Given the description of an element on the screen output the (x, y) to click on. 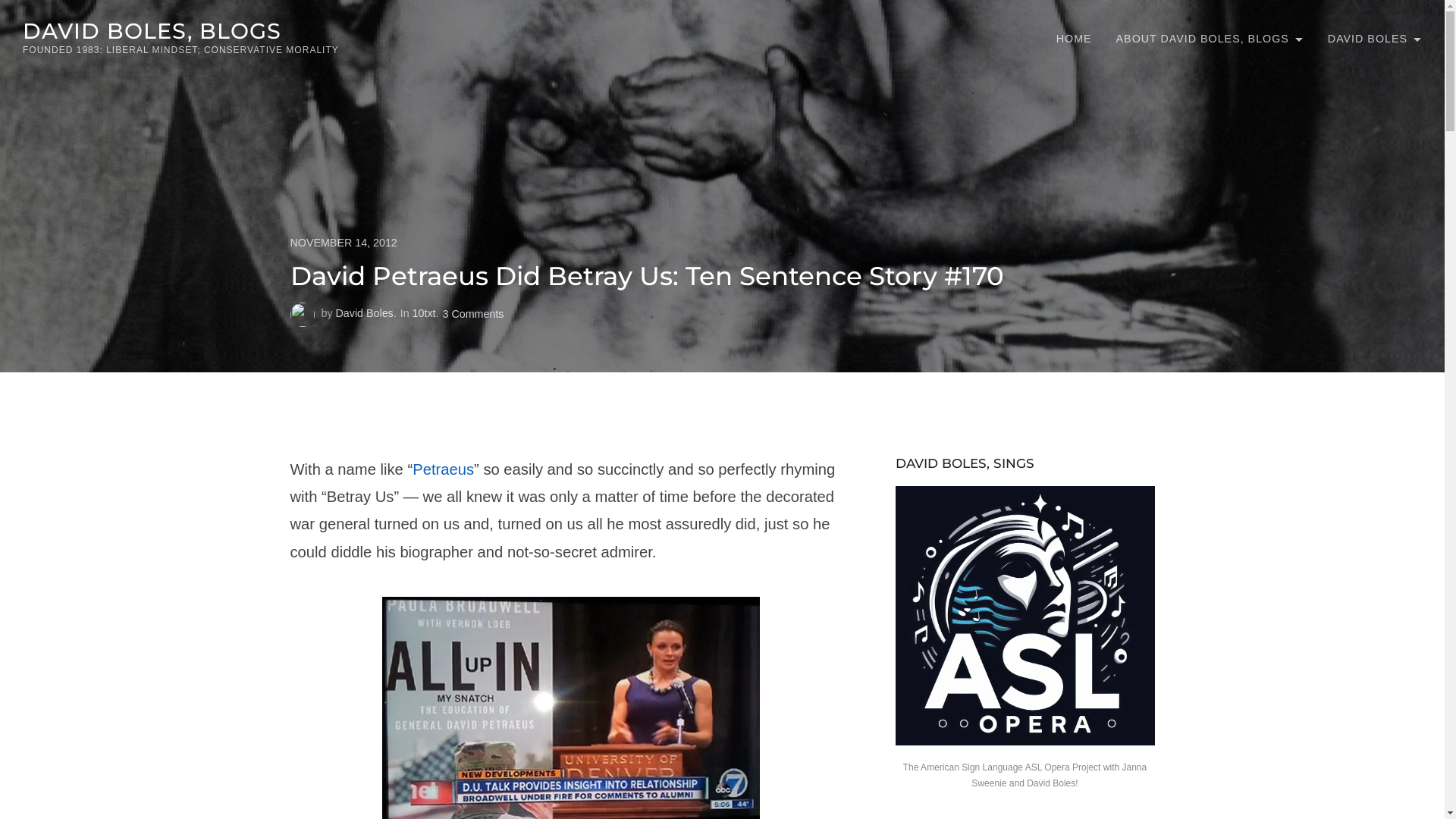
DAVID BOLES Element type: text (1374, 38)
Petraeus Element type: text (442, 469)
David Boles Element type: text (364, 313)
10txt Element type: text (424, 313)
NOVEMBER 14, 2012 Element type: text (721, 243)
HOME Element type: text (1074, 38)
ABOUT DAVID BOLES, BLOGS Element type: text (1209, 38)
DAVID BOLES, BLOGS Element type: text (151, 30)
